Given the description of an element on the screen output the (x, y) to click on. 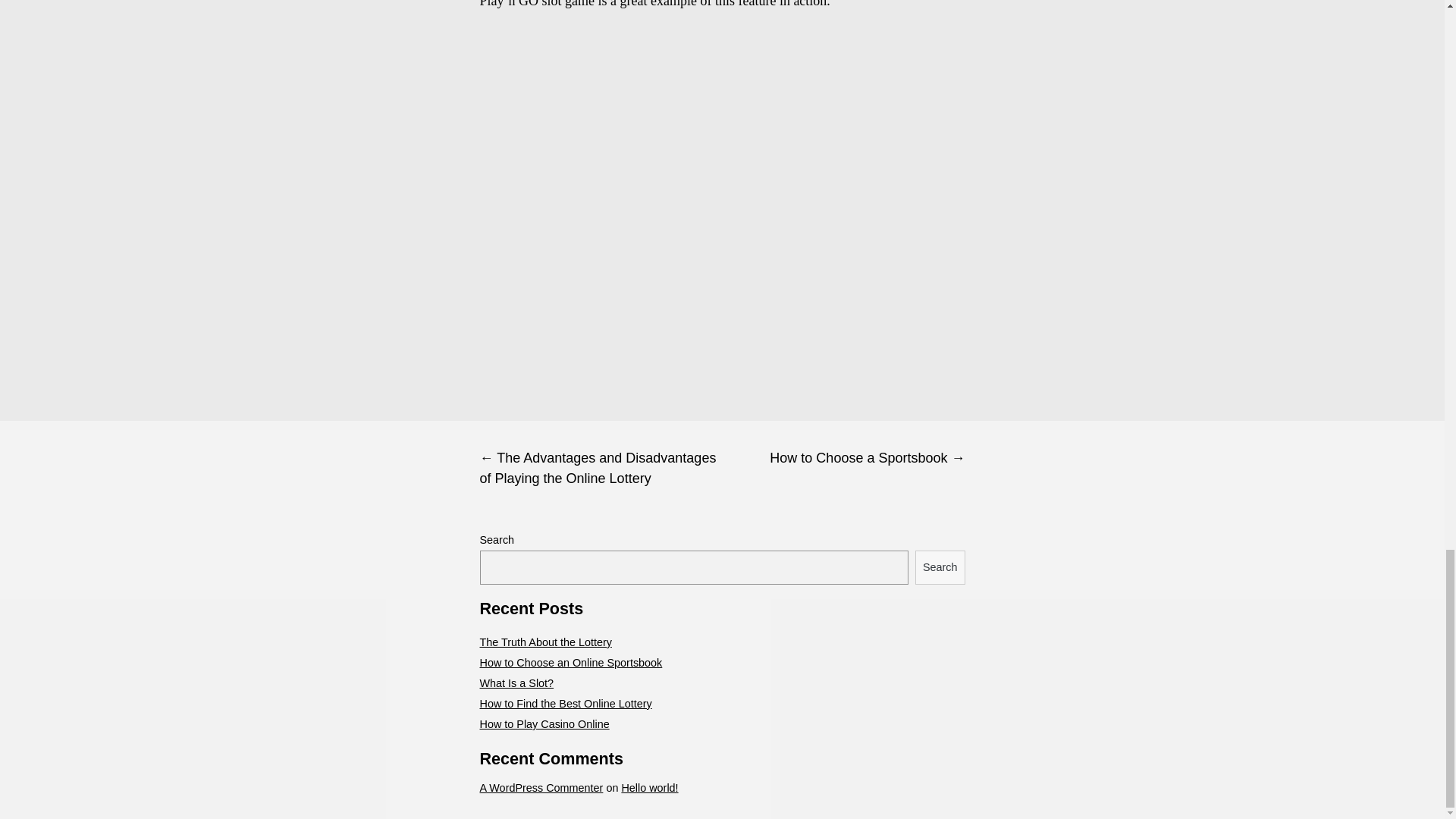
How to Find the Best Online Lottery (564, 703)
What Is a Slot? (516, 683)
The Truth About the Lottery (545, 642)
How to Choose a Sportsbook (842, 458)
Hello world! (649, 787)
How to Choose an Online Sportsbook (570, 662)
A WordPress Commenter (540, 787)
How to Play Casino Online (543, 724)
Search (940, 567)
